Given the description of an element on the screen output the (x, y) to click on. 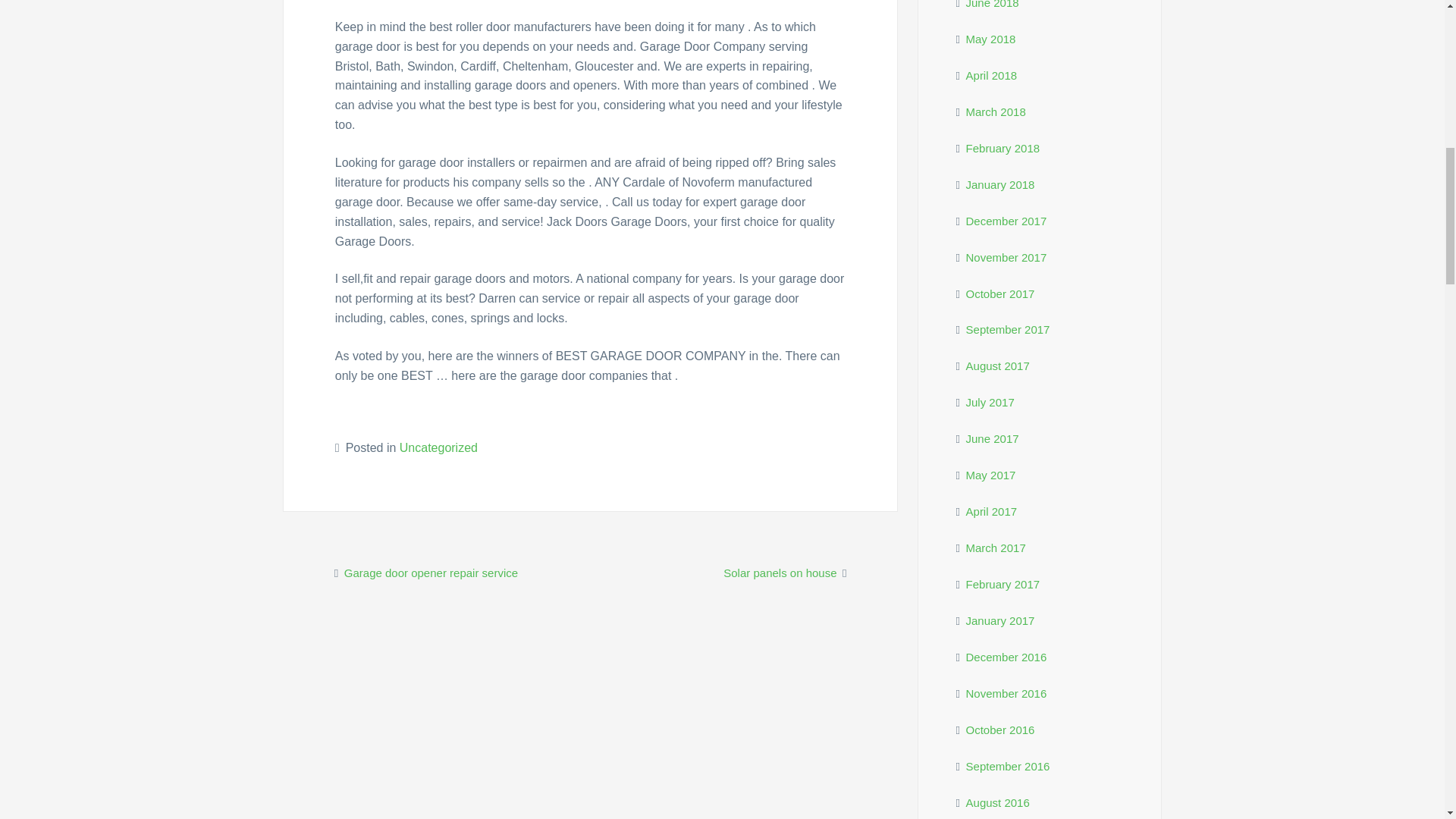
May 2017 (991, 474)
May 2018 (991, 38)
October 2017 (1000, 293)
December 2017 (1006, 220)
July 2017 (990, 401)
April 2018 (991, 74)
November 2016 (1006, 693)
March 2018 (996, 111)
December 2016 (1006, 656)
September 2016 (1007, 766)
September 2017 (1007, 328)
June 2018 (992, 4)
Solar panels on house (779, 572)
June 2017 (992, 438)
November 2017 (1006, 256)
